Given the description of an element on the screen output the (x, y) to click on. 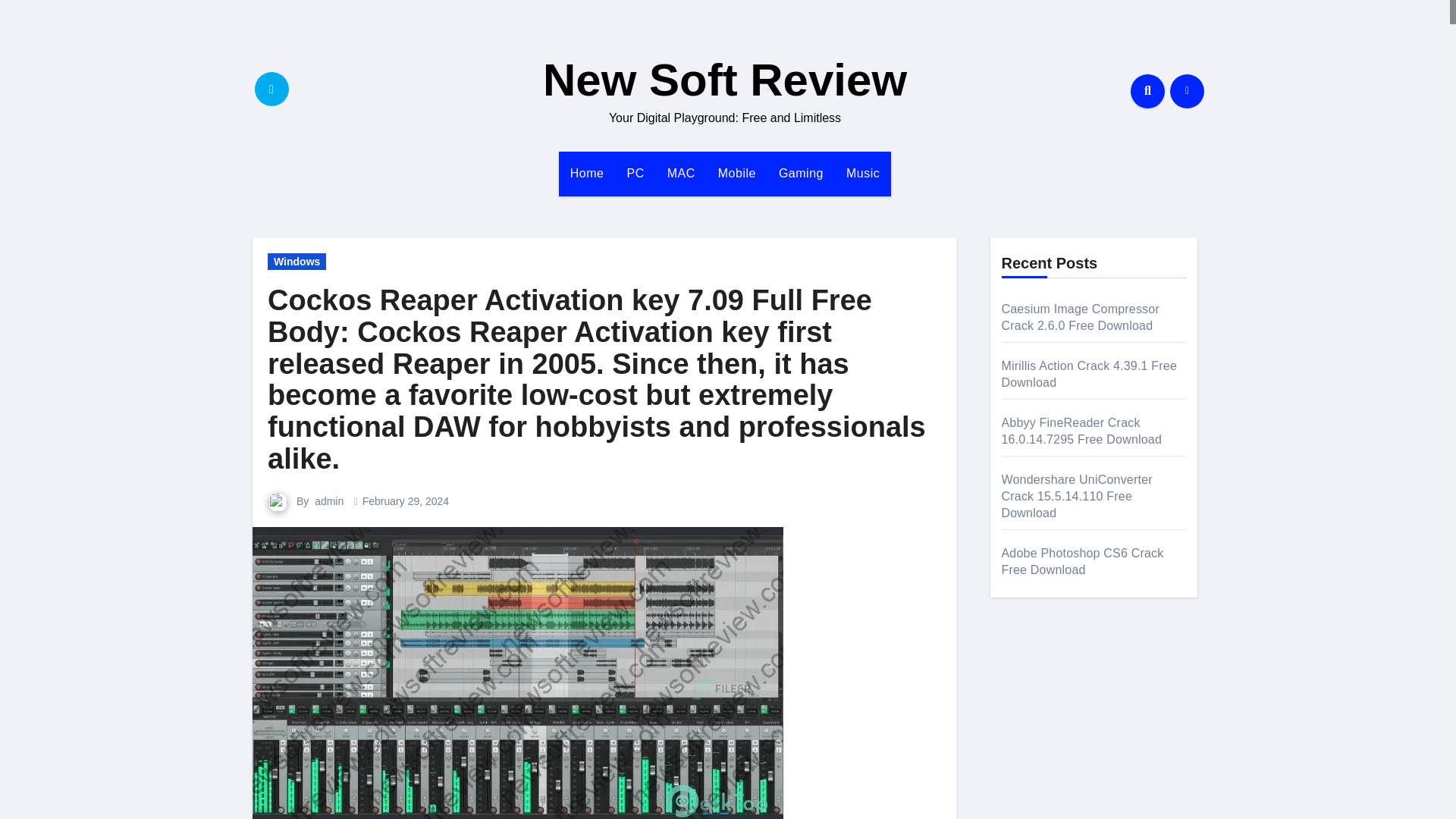
Music (862, 173)
Home (587, 173)
PC (634, 173)
Windows (296, 261)
Gaming (800, 173)
Mobile (736, 173)
Gaming (800, 173)
Music (862, 173)
Mobile (736, 173)
Home (587, 173)
PC (634, 173)
February 29, 2024 (405, 500)
